Given the description of an element on the screen output the (x, y) to click on. 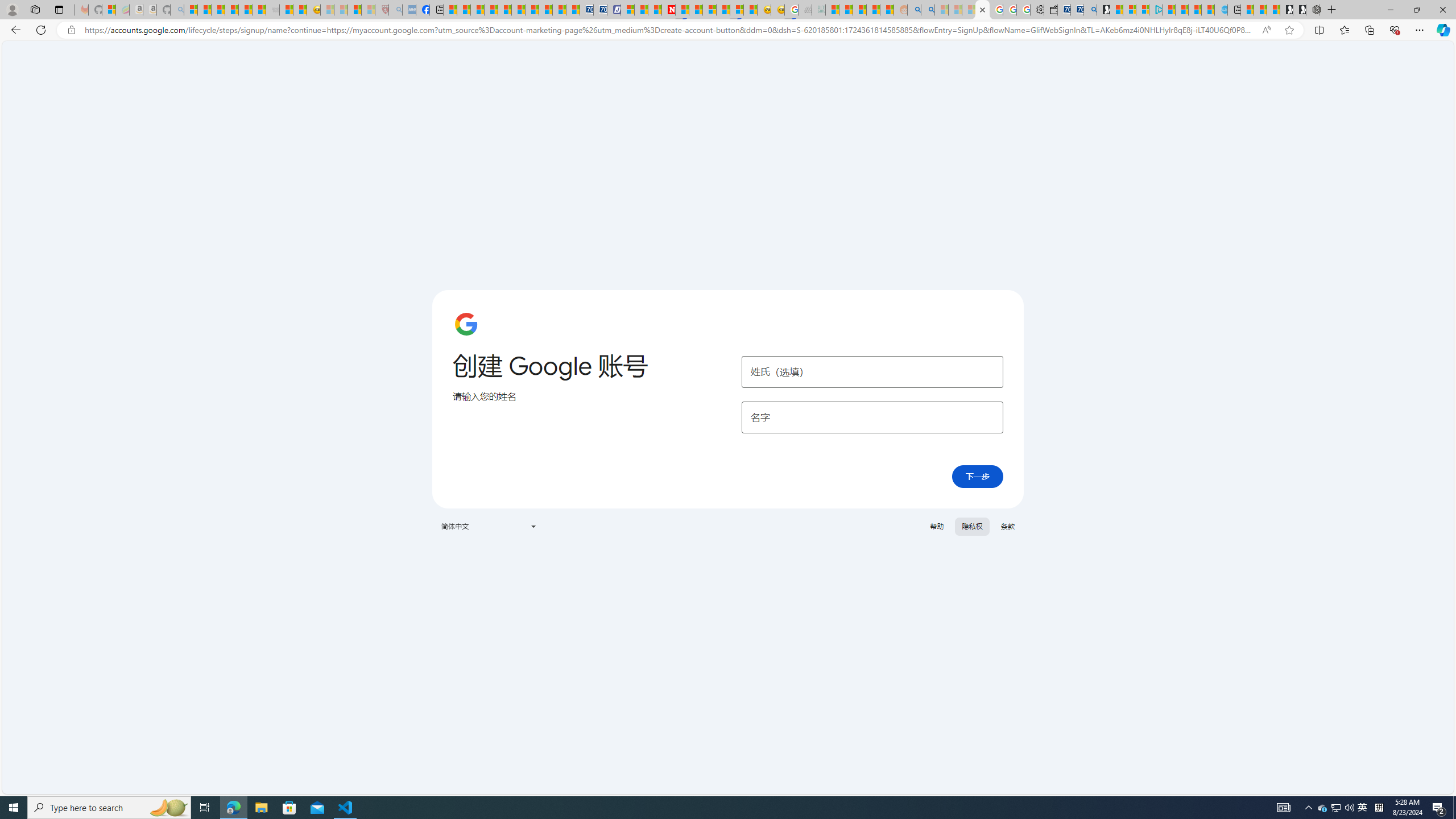
Cheap Hotels - Save70.com (599, 9)
Utah sues federal government - Search (927, 9)
Climate Damage Becomes Too Severe To Reverse (490, 9)
